Given the description of an element on the screen output the (x, y) to click on. 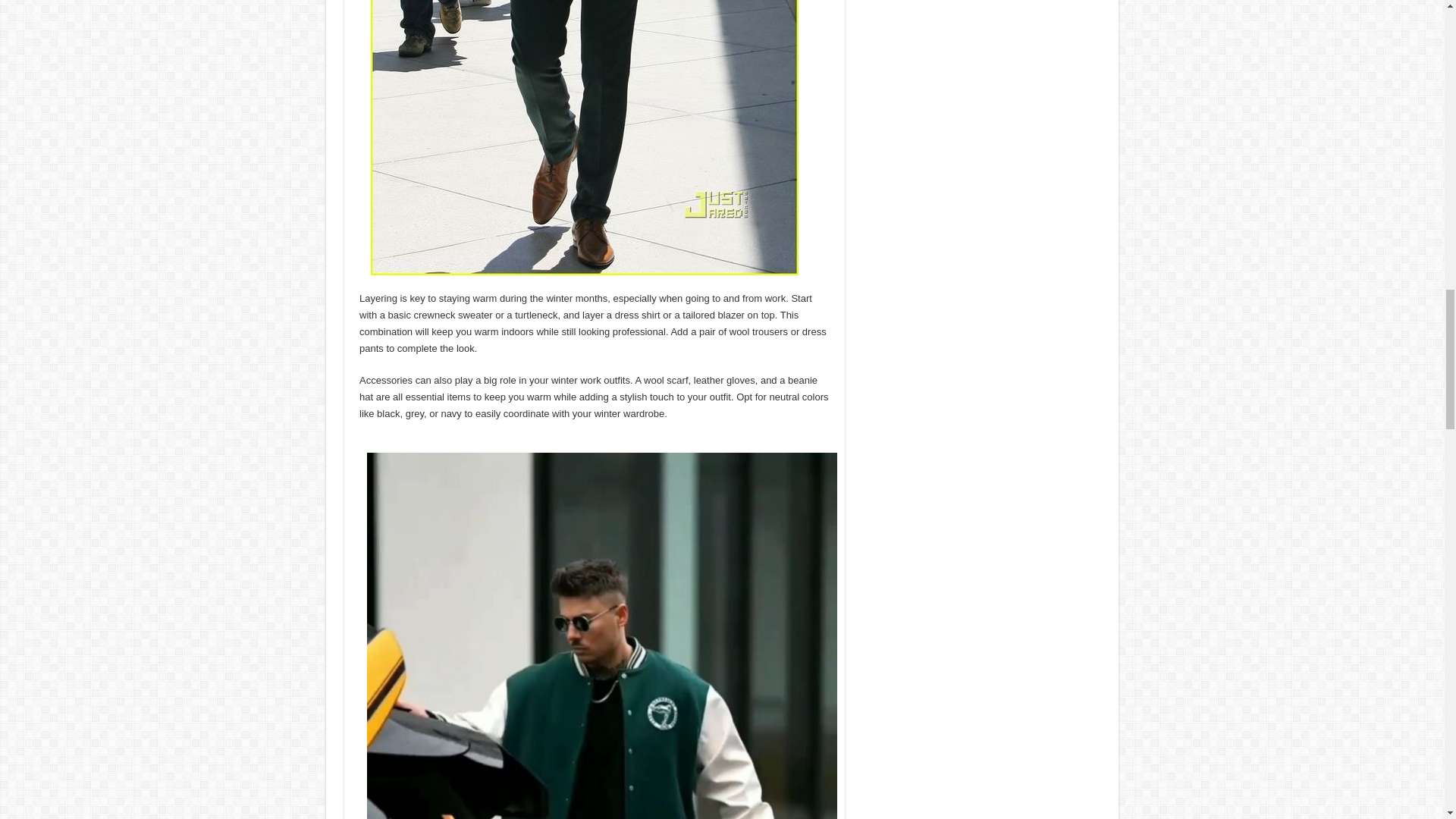
Stylish Winter Work Attire for Men (584, 137)
